Given the description of an element on the screen output the (x, y) to click on. 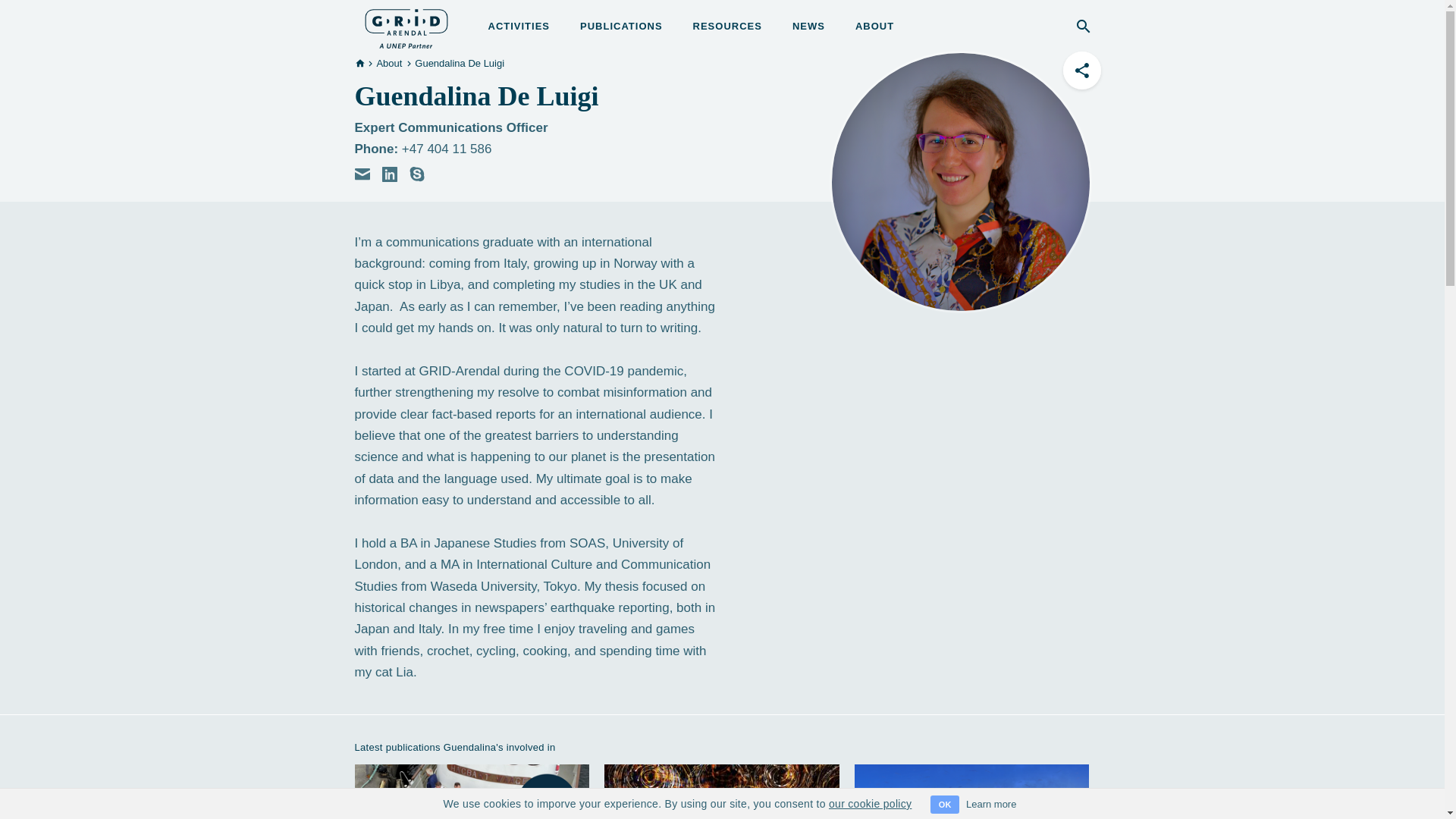
About (388, 62)
our cookie policy (869, 803)
Learn more (991, 803)
ACTIVITIES (518, 25)
NEWS (808, 25)
PUBLICATIONS (620, 25)
ABOUT (874, 25)
RESOURCES (727, 25)
OK (944, 804)
